Given the description of an element on the screen output the (x, y) to click on. 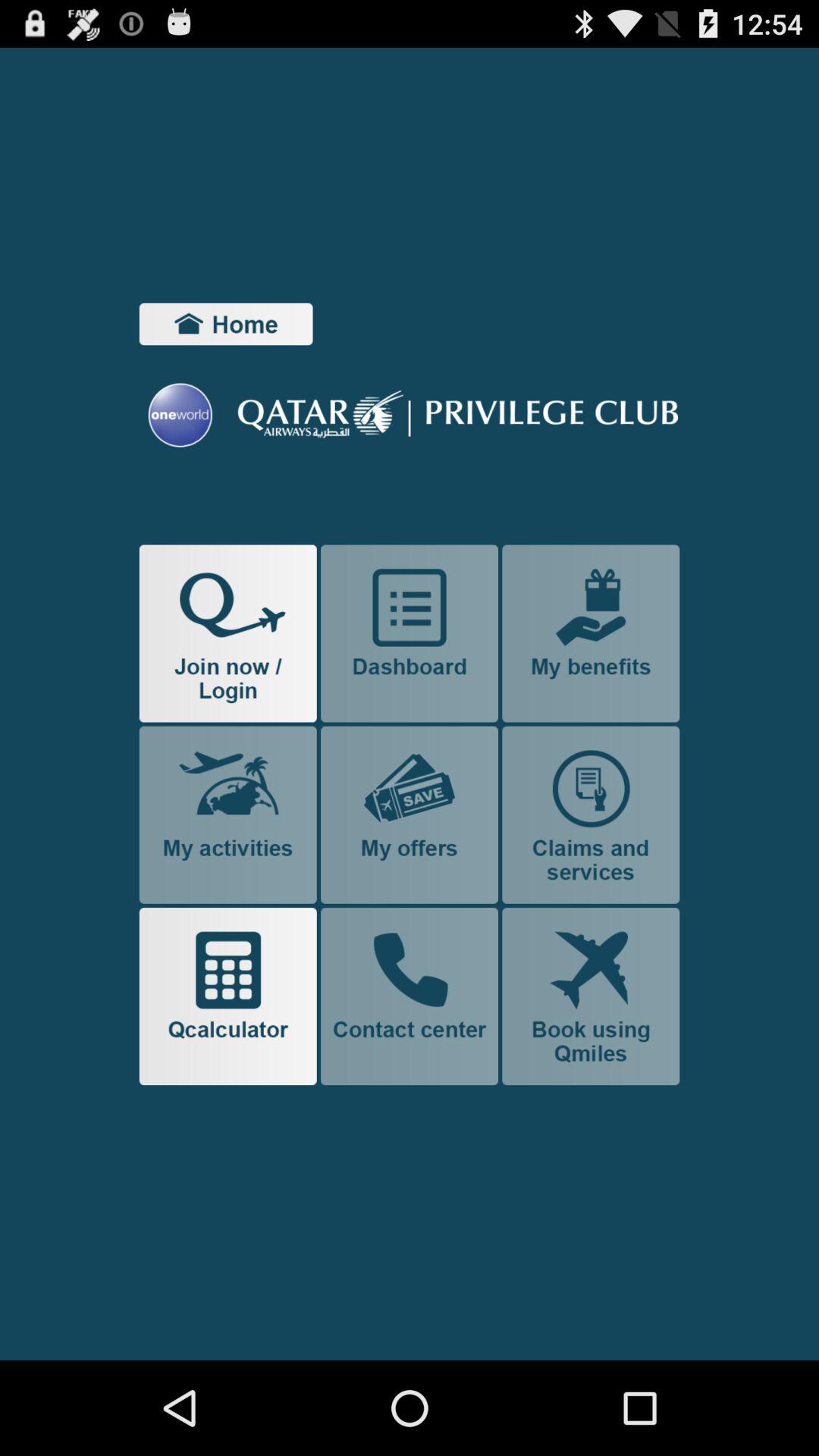
open claims and services (590, 814)
